Given the description of an element on the screen output the (x, y) to click on. 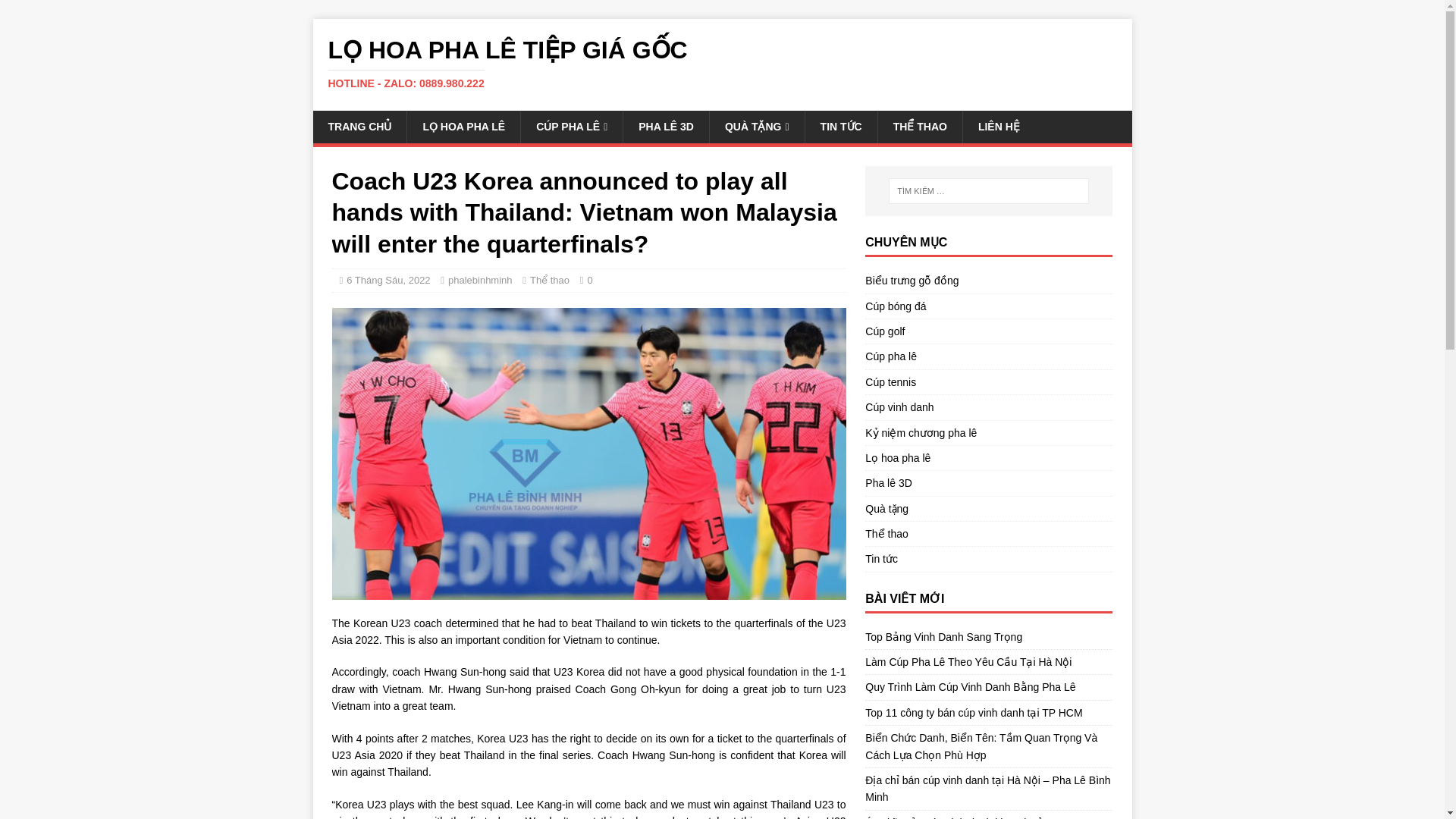
phalebinhminh (480, 279)
